Given the description of an element on the screen output the (x, y) to click on. 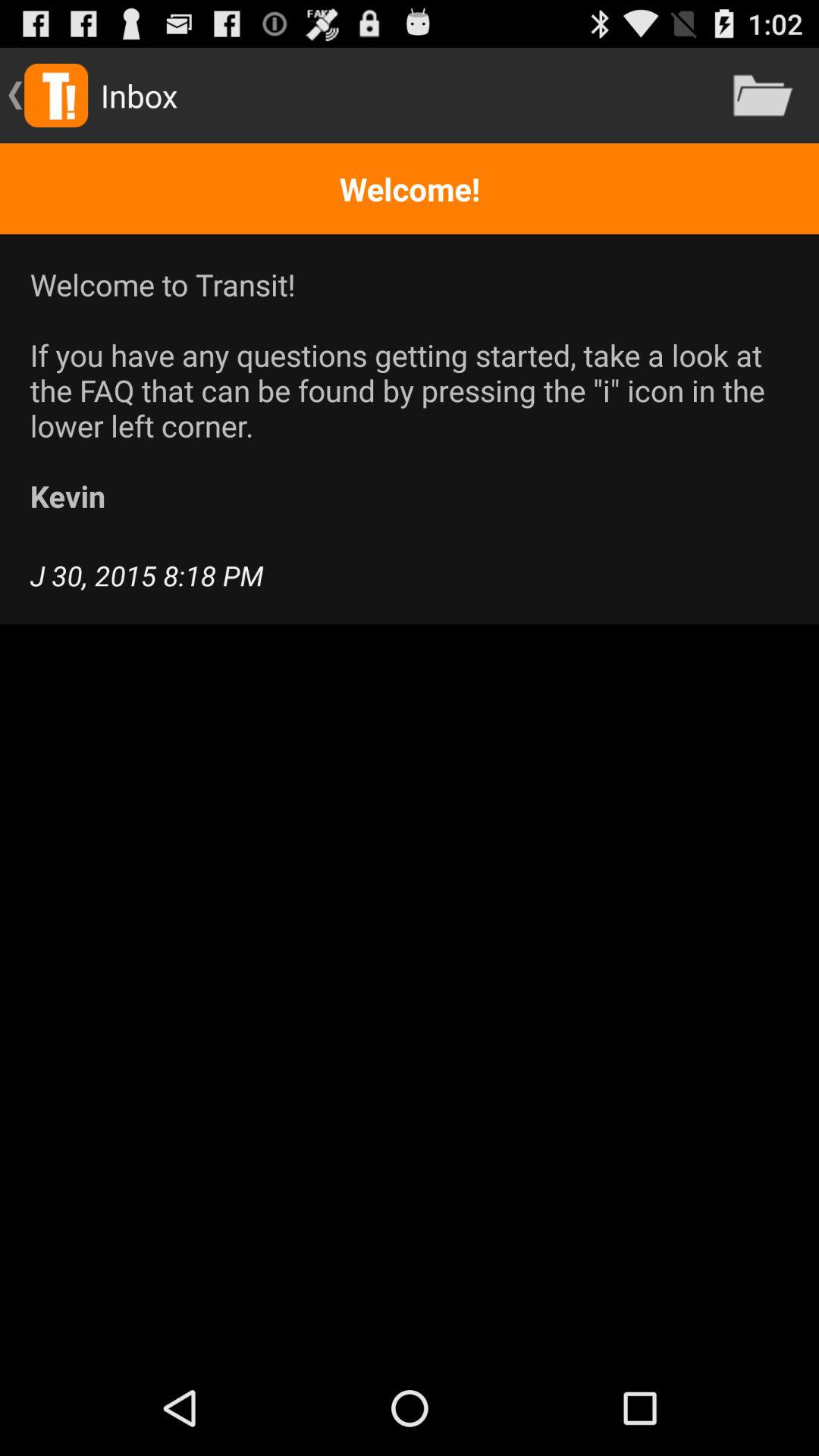
press icon above the j 30 2015 app (409, 390)
